Given the description of an element on the screen output the (x, y) to click on. 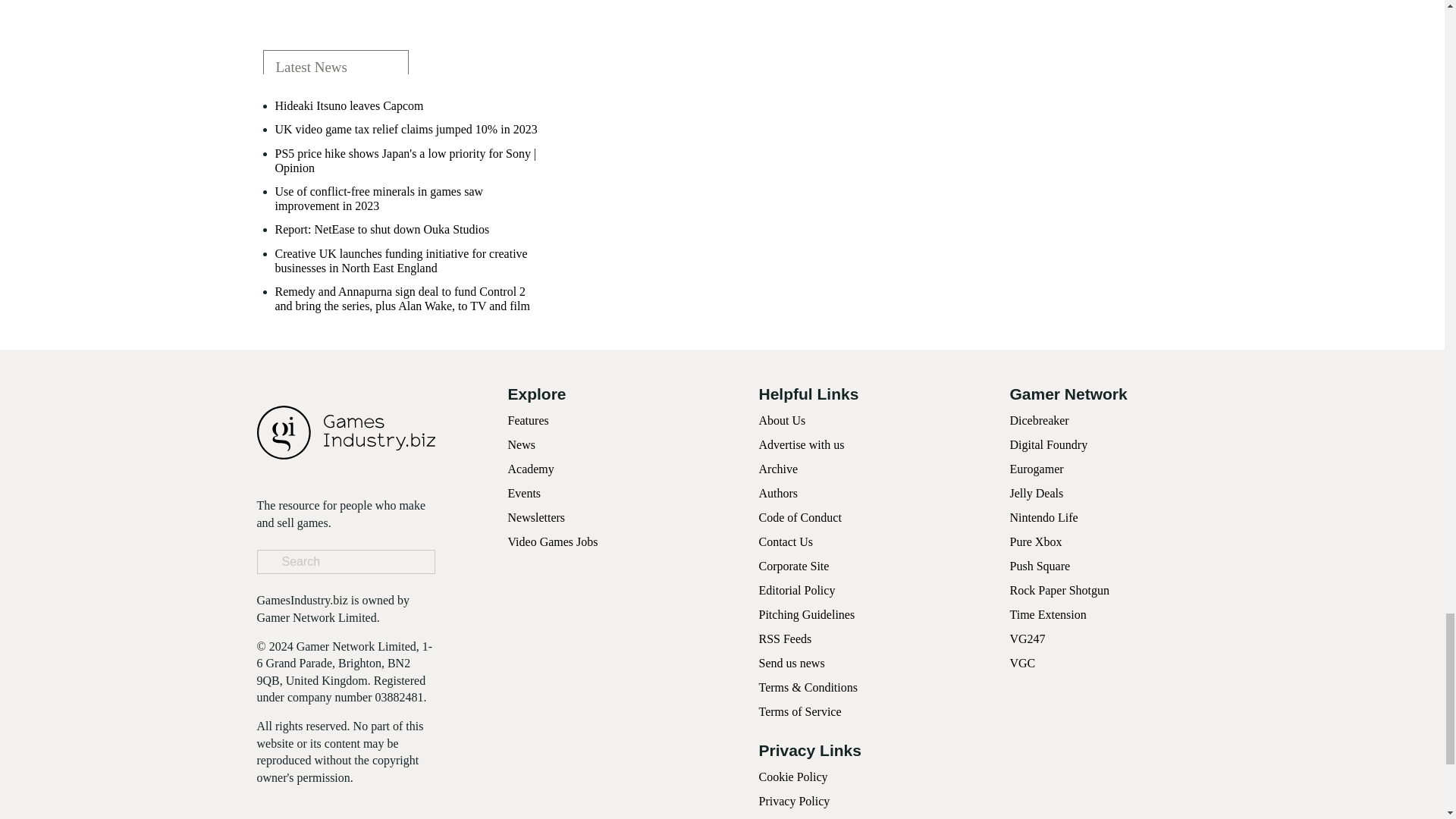
Academy (531, 468)
Newsletters (537, 517)
Features (528, 420)
Hideaki Itsuno leaves Capcom (349, 105)
Video Games Jobs (553, 541)
News (521, 444)
Report: NetEase to shut down Ouka Studios (382, 228)
